Given the description of an element on the screen output the (x, y) to click on. 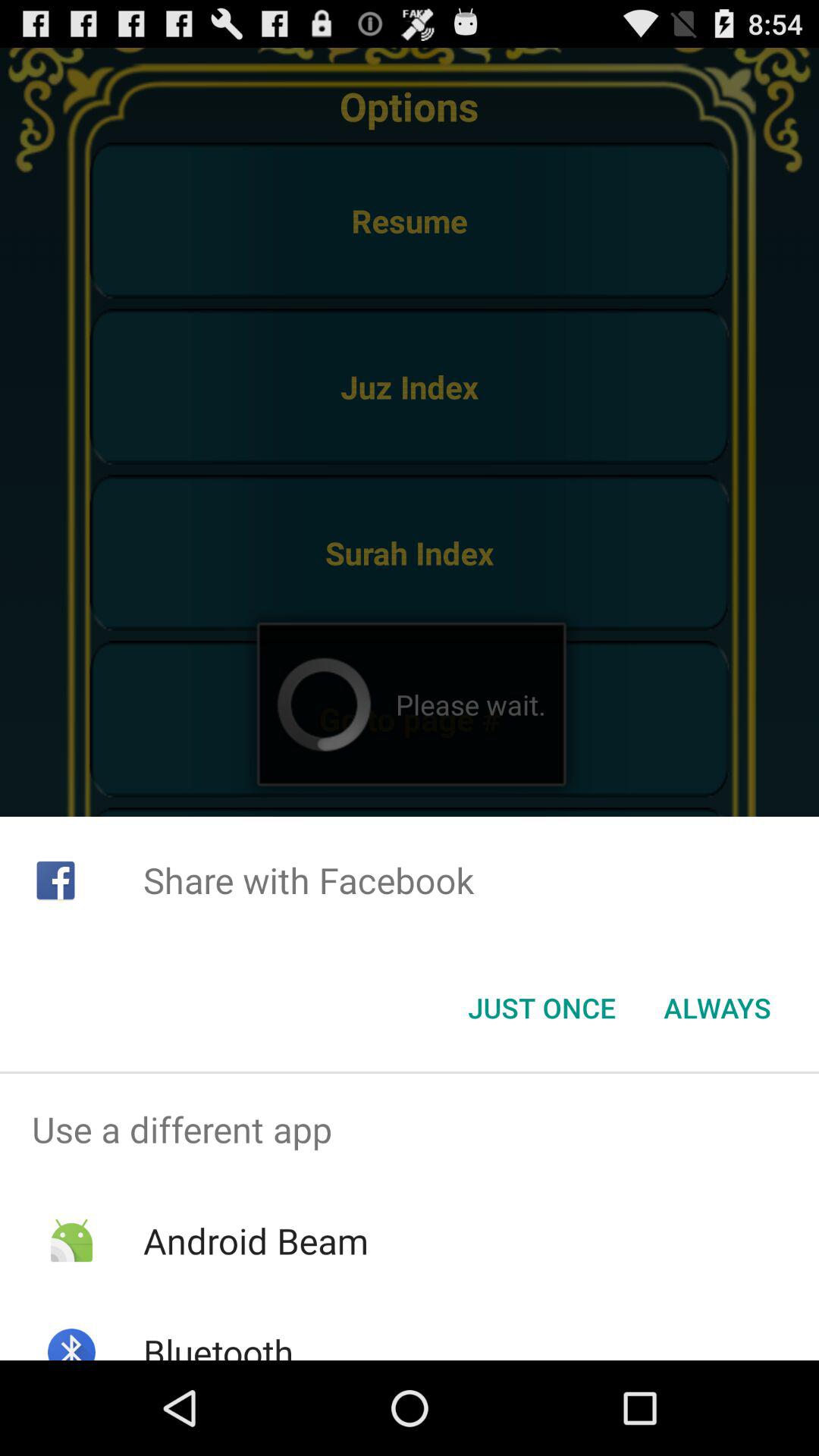
swipe until always button (717, 1007)
